Given the description of an element on the screen output the (x, y) to click on. 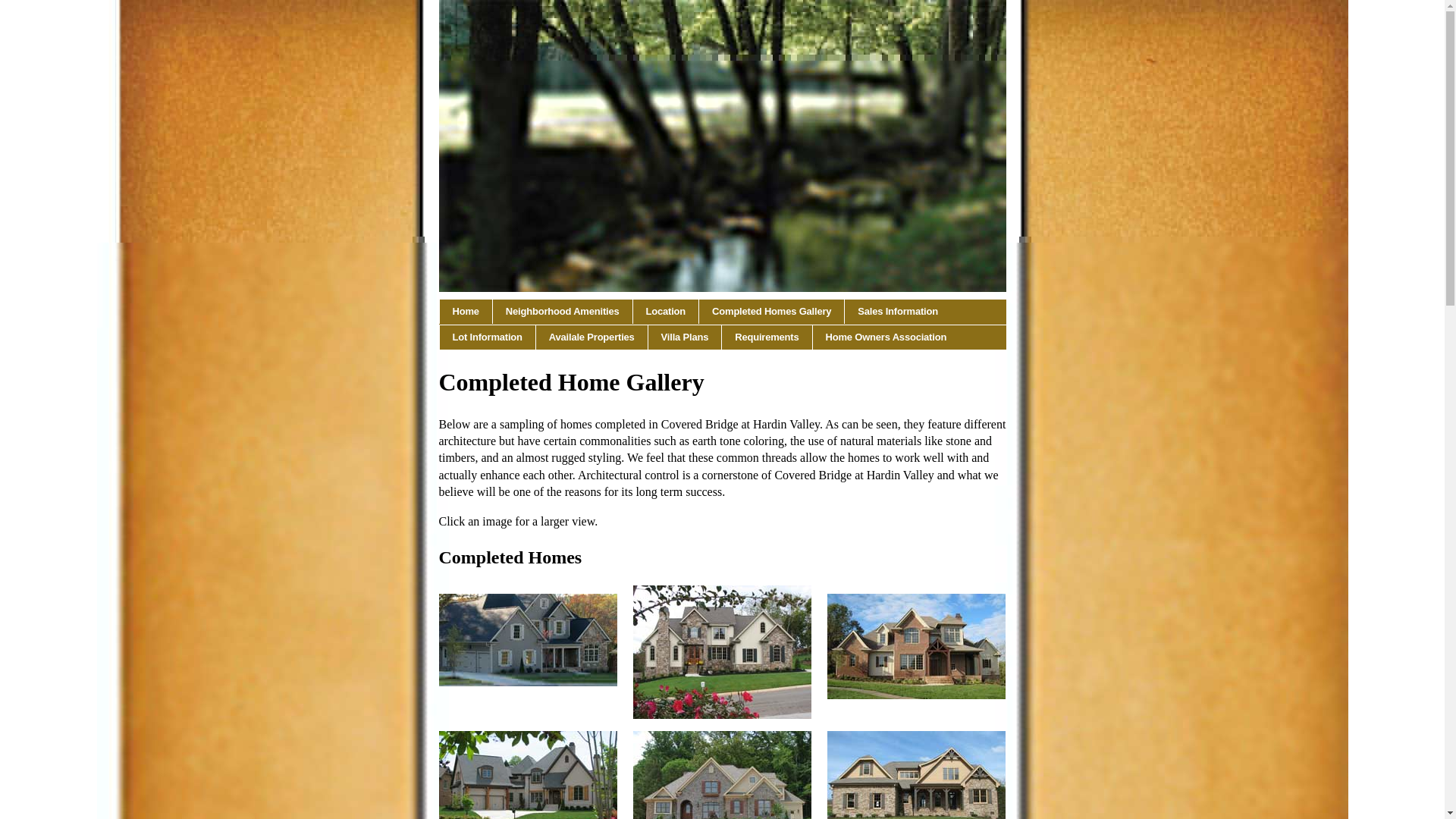
Requirements (767, 337)
Home Owners Association (885, 337)
Home (465, 311)
Location (666, 311)
Completed Homes Gallery (771, 311)
Villa Plans (684, 337)
Neighborhood Amenities (563, 311)
Availale Properties (591, 337)
Lot Information (486, 337)
Sales Information (897, 311)
